Given the description of an element on the screen output the (x, y) to click on. 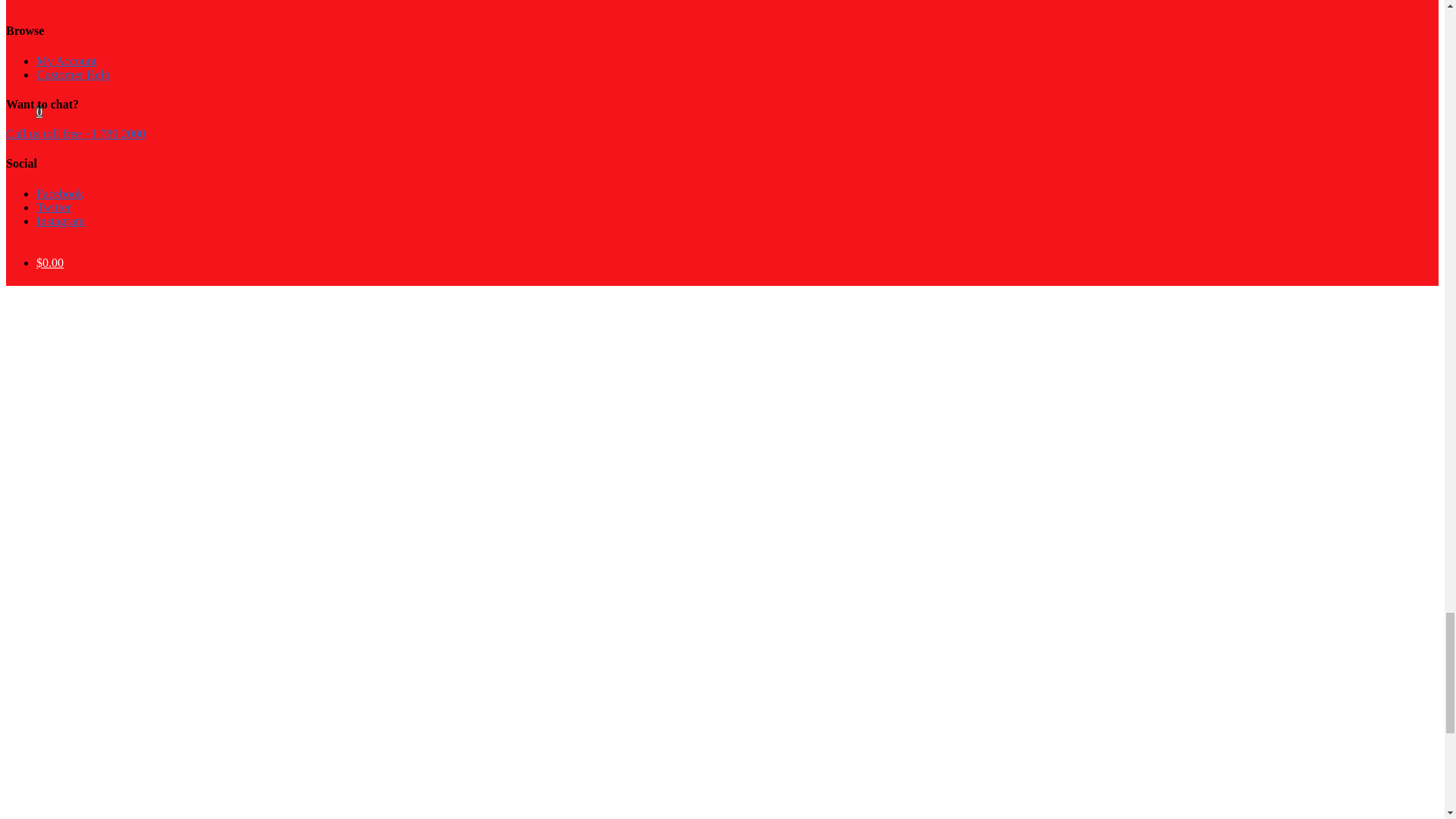
View your shopping cart (521, 58)
My Account (66, 60)
Twitter (53, 206)
Facebook (59, 193)
Customer Help (73, 74)
Instagram (60, 220)
